Given the description of an element on the screen output the (x, y) to click on. 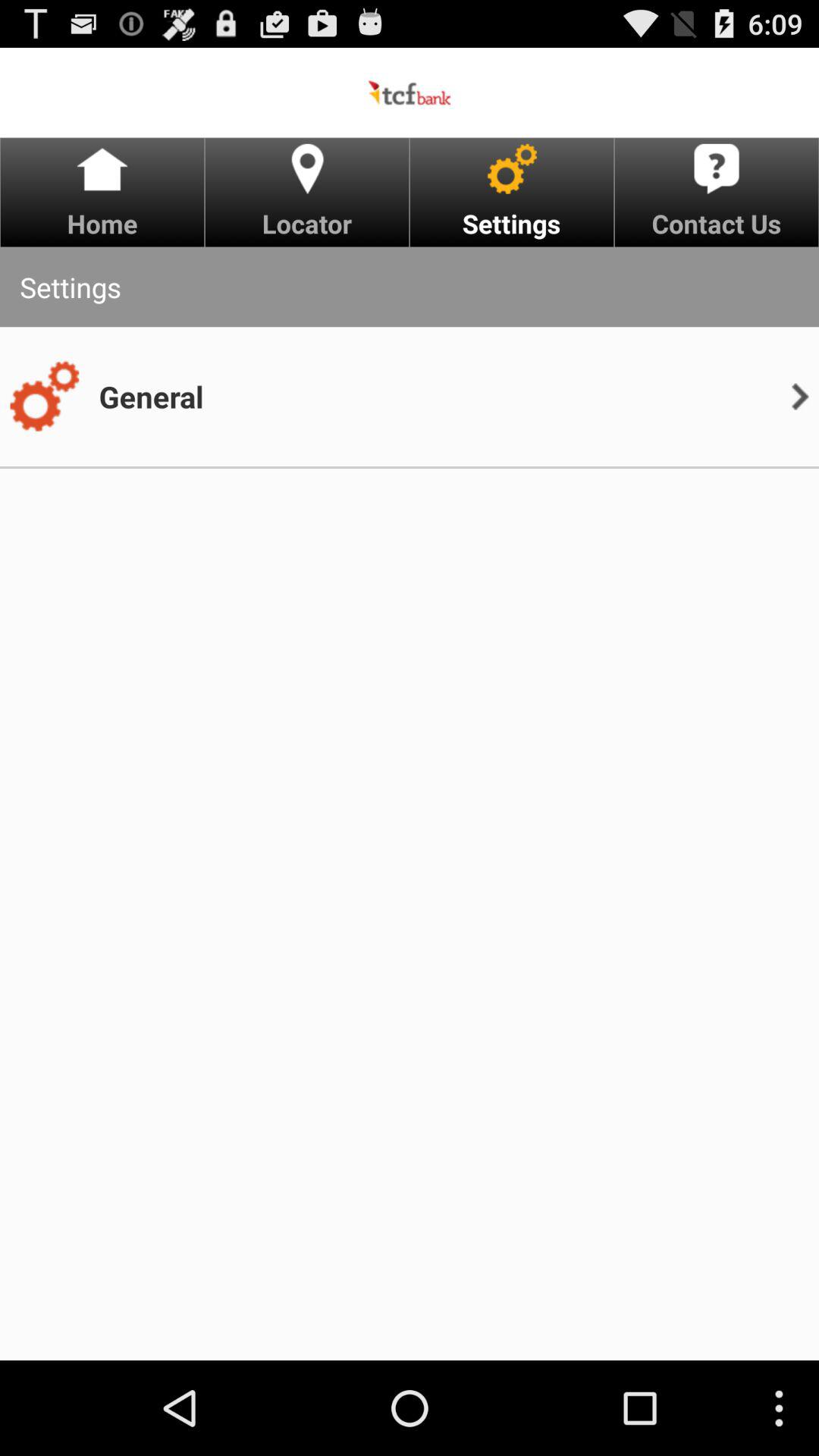
open general item (150, 396)
